Given the description of an element on the screen output the (x, y) to click on. 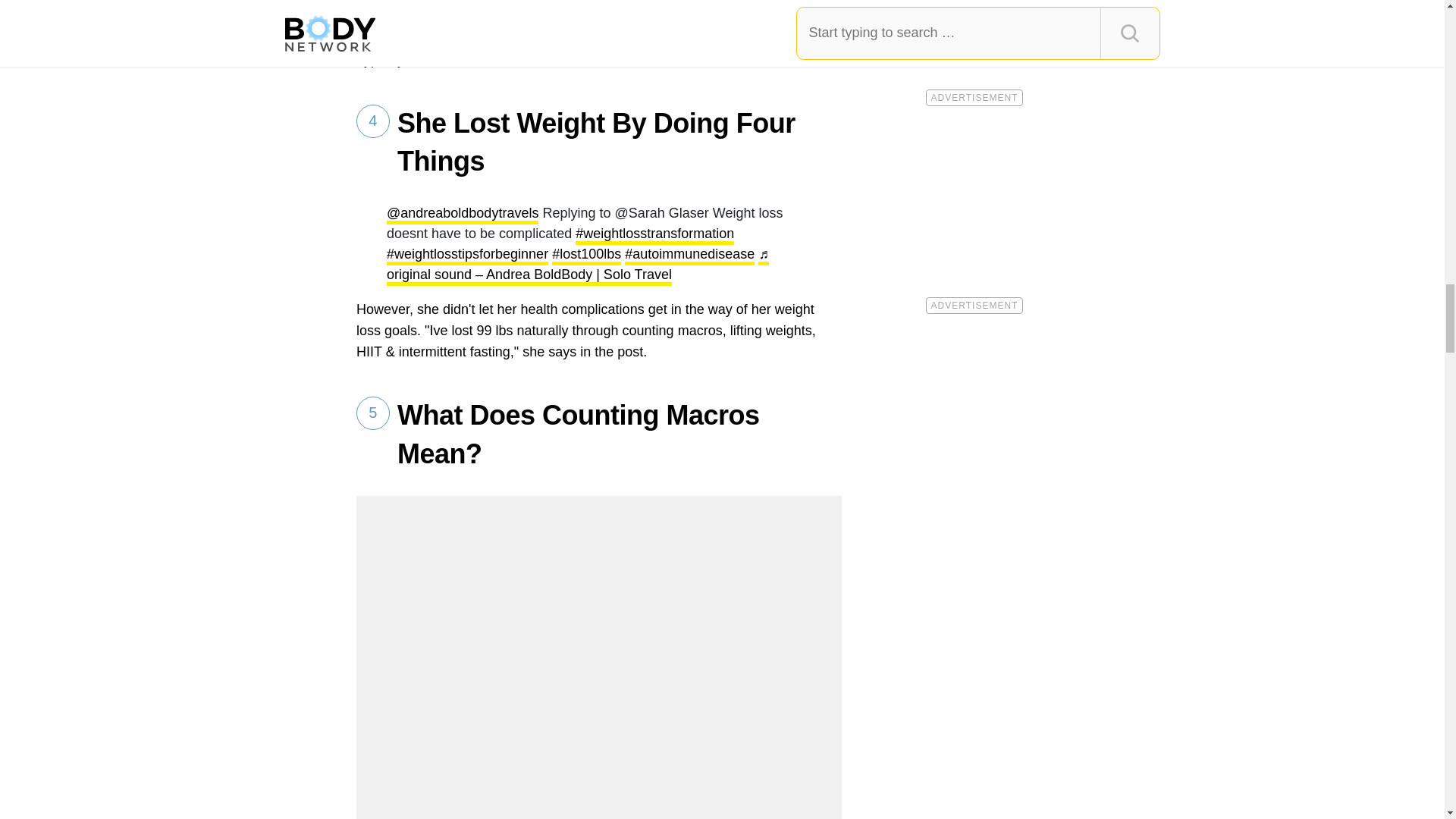
weightlosstransformation (654, 235)
lost100lbs (586, 255)
weightlosstipsforbeginner (467, 255)
autoimmunedisease (689, 255)
